Given the description of an element on the screen output the (x, y) to click on. 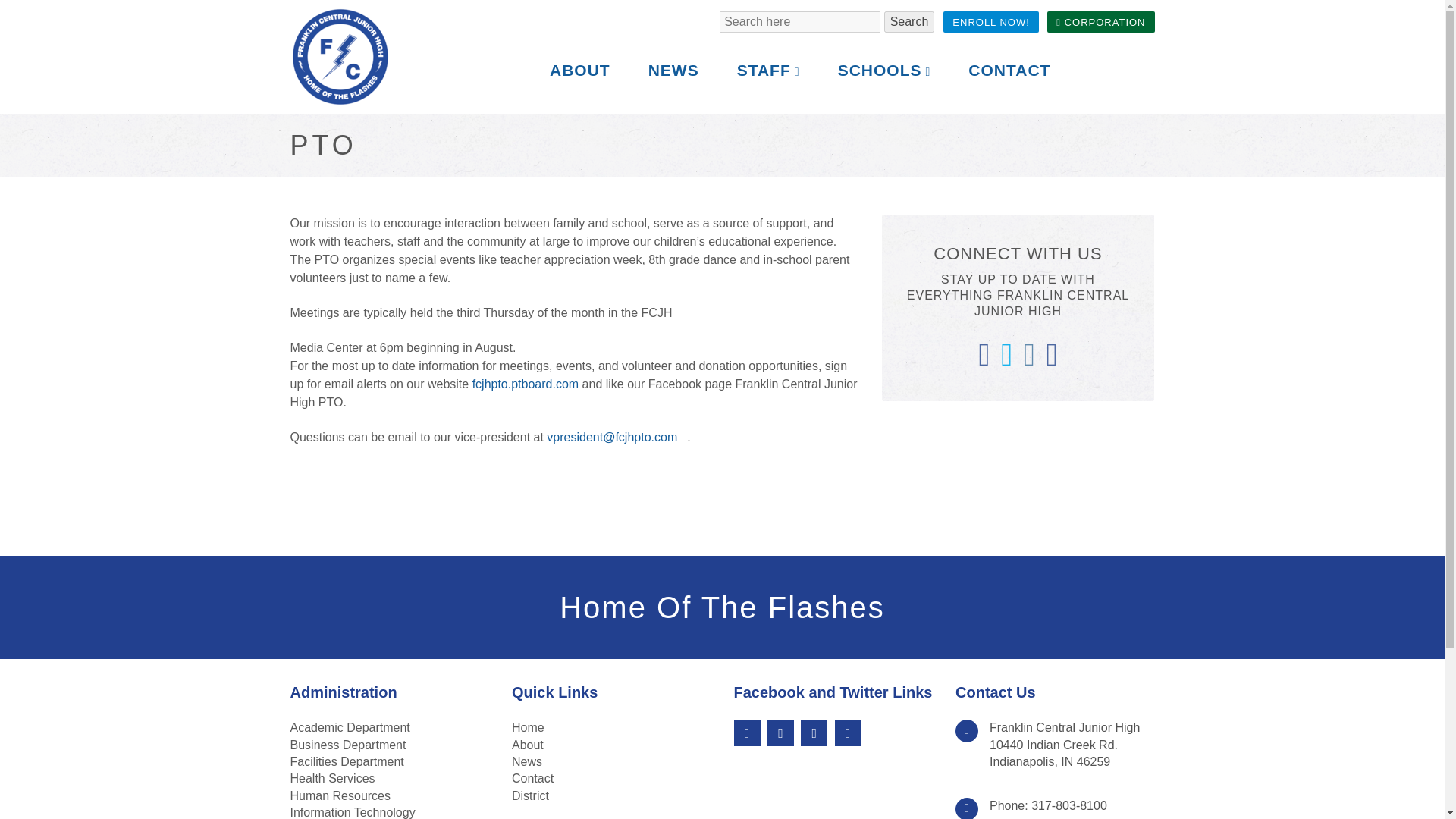
Our Twitter Profile (780, 732)
Our Facebook Page for Disrict (847, 732)
Business Department (347, 744)
Follow link (617, 436)
Academic Department (349, 727)
Facilities Department (346, 761)
Follow link (525, 383)
STAFF (1100, 21)
Health Services (767, 70)
SCHOOLS (331, 778)
Human Resources (884, 70)
CONTACT (339, 795)
Information Technology (991, 21)
